Given the description of an element on the screen output the (x, y) to click on. 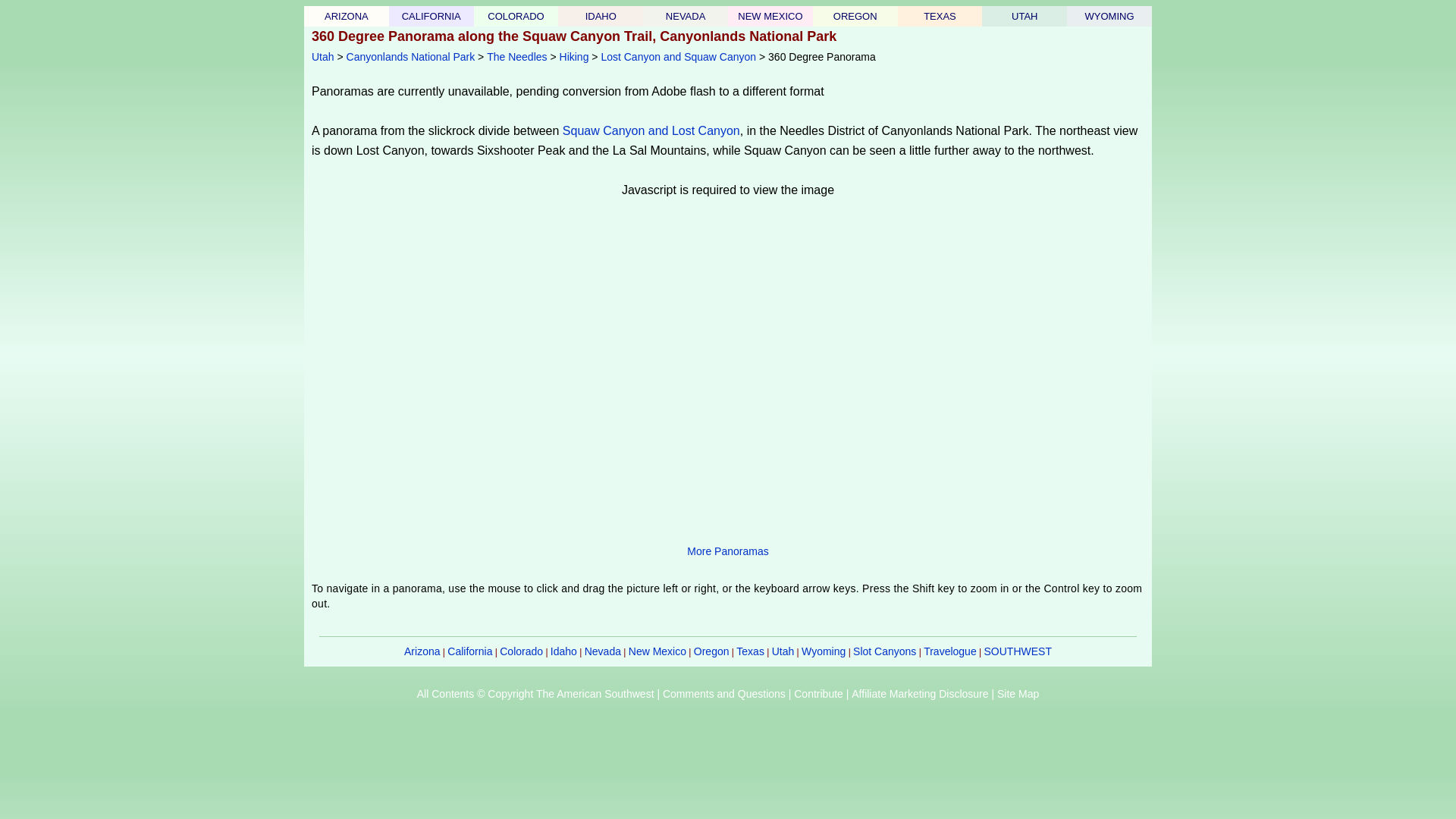
Canyonlands National Park (411, 56)
Colorado (521, 651)
Arizona (346, 16)
Hiking (574, 56)
More Panoramas (727, 551)
Oregon (854, 16)
New Mexico (770, 16)
Colorado (515, 16)
Arizona (421, 651)
WYOMING (1109, 16)
